Given the description of an element on the screen output the (x, y) to click on. 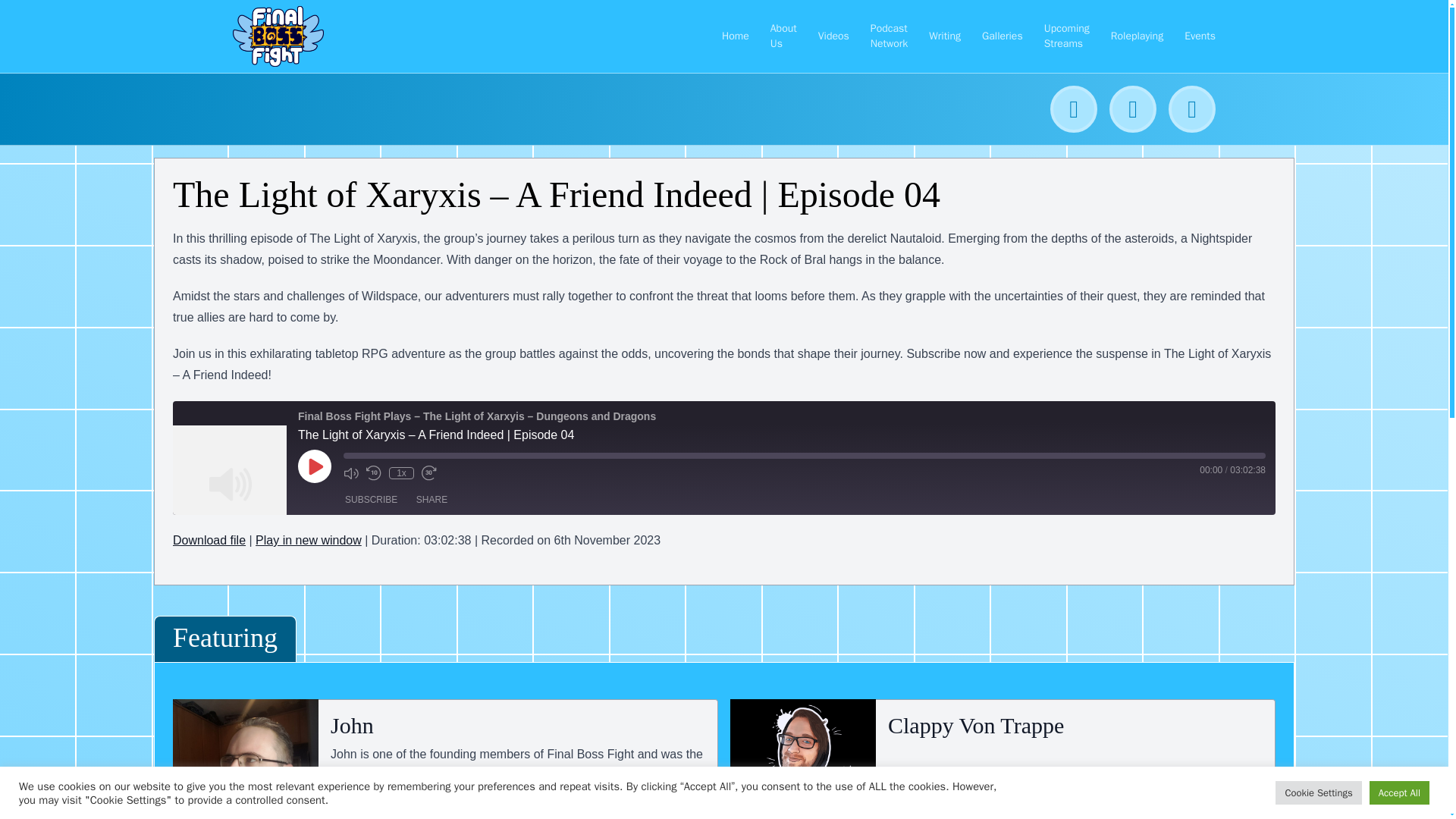
Play Episode (314, 466)
SUBSCRIBE (370, 499)
Fast Forward 30 seconds (429, 473)
Share (431, 499)
Subscribe (370, 499)
Roleplaying (1136, 35)
Podcast Network (889, 35)
Home (735, 35)
Playback Speed (400, 472)
Fast Forward 30 seconds (429, 473)
About Us (783, 35)
Upcoming Streams (1066, 35)
Rewind 10 Seconds (373, 473)
Play (314, 466)
